Given the description of an element on the screen output the (x, y) to click on. 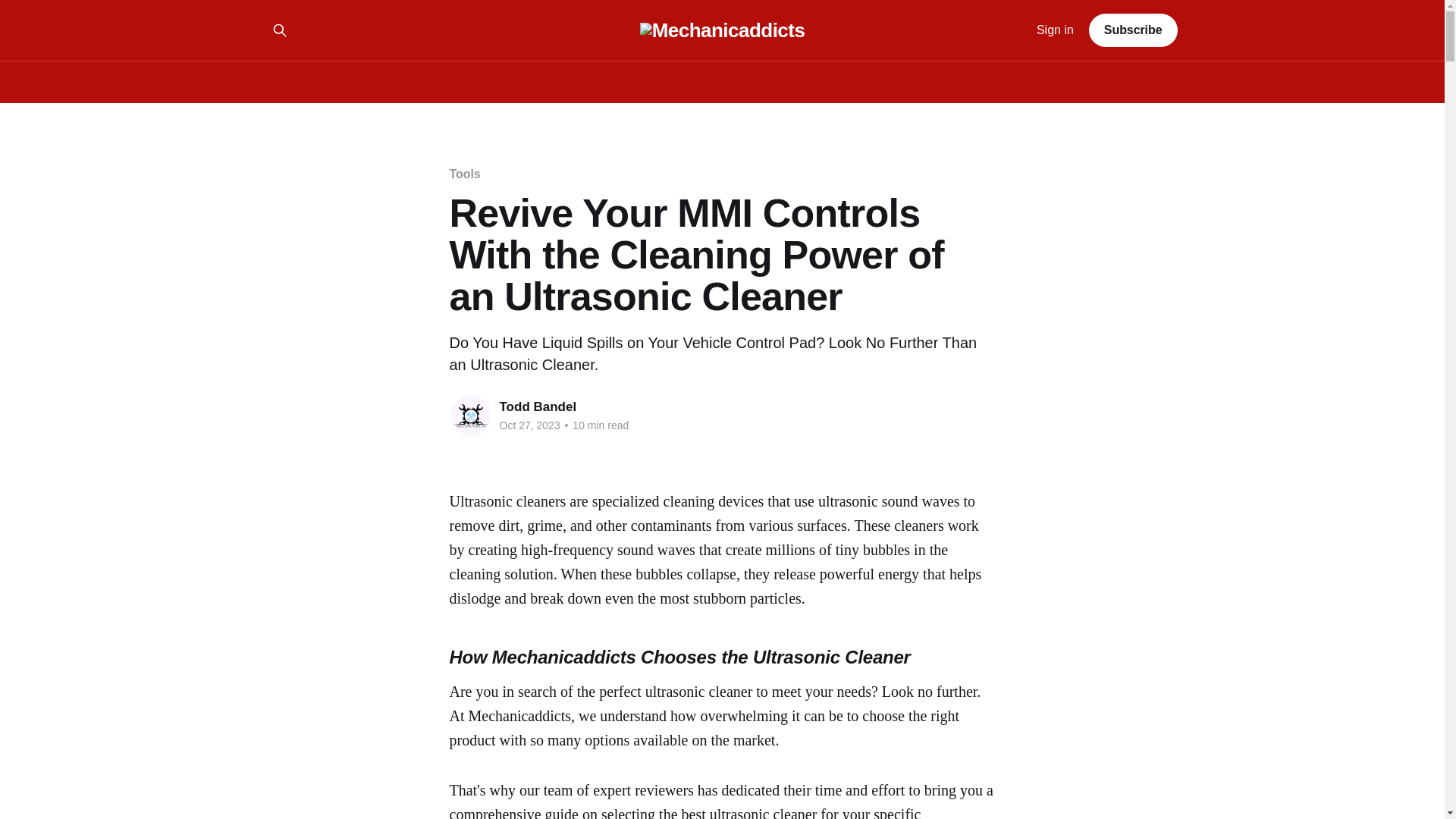
Tools (464, 173)
Sign in (1055, 30)
Subscribe (1133, 29)
Todd Bandel (537, 406)
